Given the description of an element on the screen output the (x, y) to click on. 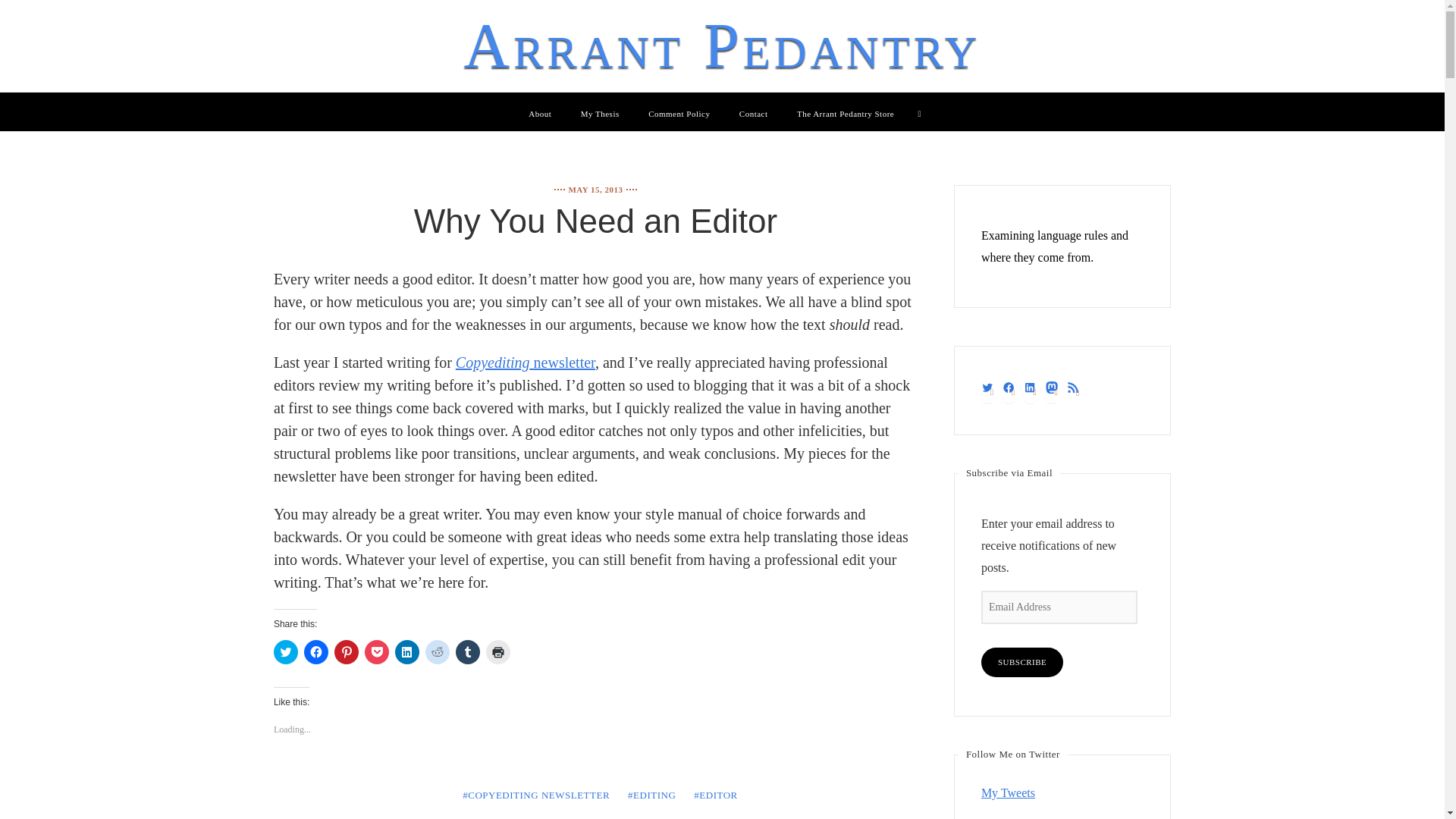
The Arrant Pedantry Store (844, 112)
Click to share on LinkedIn (406, 651)
Click to share on Tumblr (467, 651)
Contact (753, 112)
Click to share on Twitter (285, 651)
Click to share on Pinterest (346, 651)
About (539, 112)
Click to share on Pocket (376, 651)
Copyediting newsletter (525, 362)
Contact (753, 112)
